Given the description of an element on the screen output the (x, y) to click on. 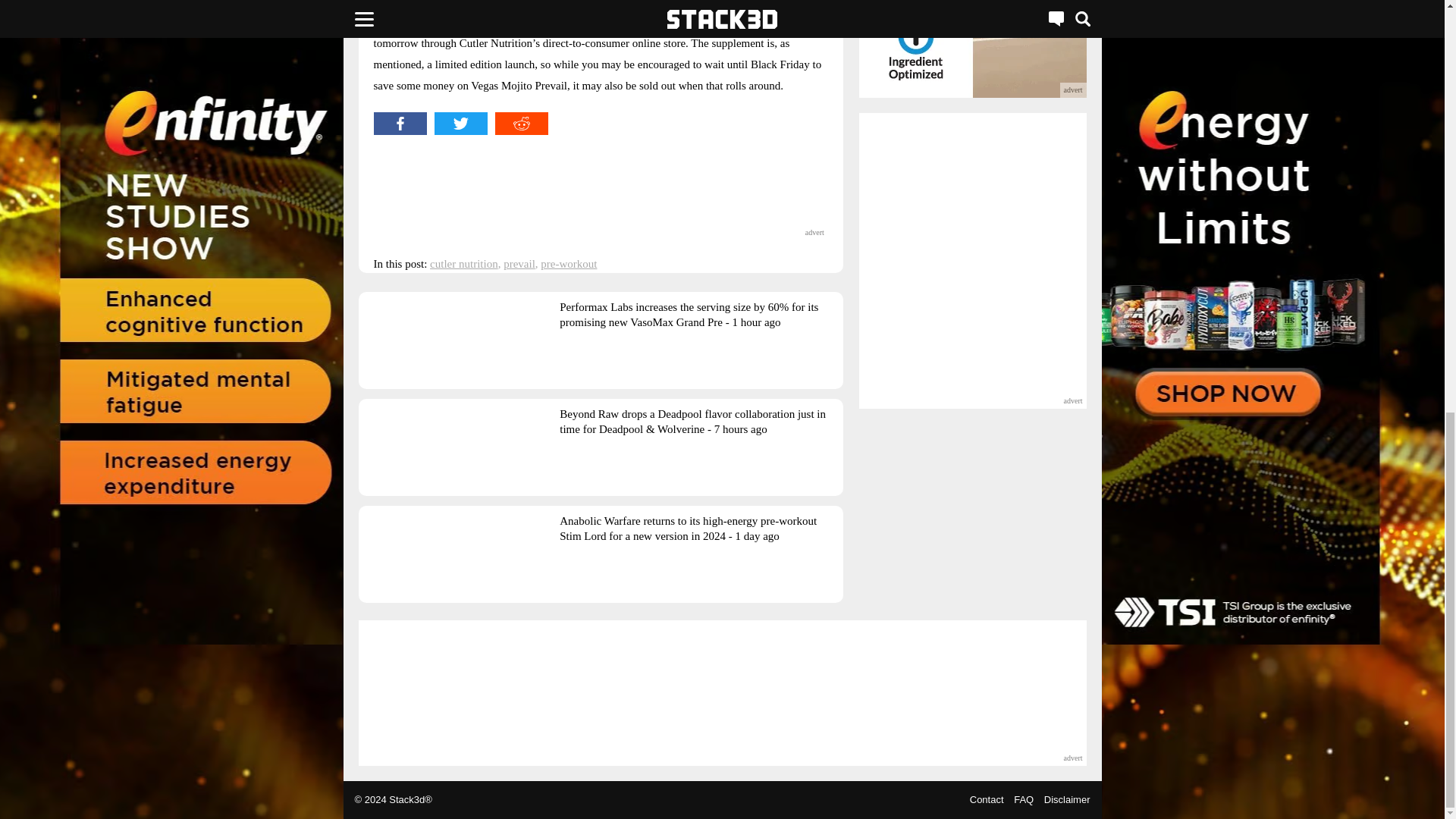
cutler nutrition (463, 263)
prevail (519, 263)
